Given the description of an element on the screen output the (x, y) to click on. 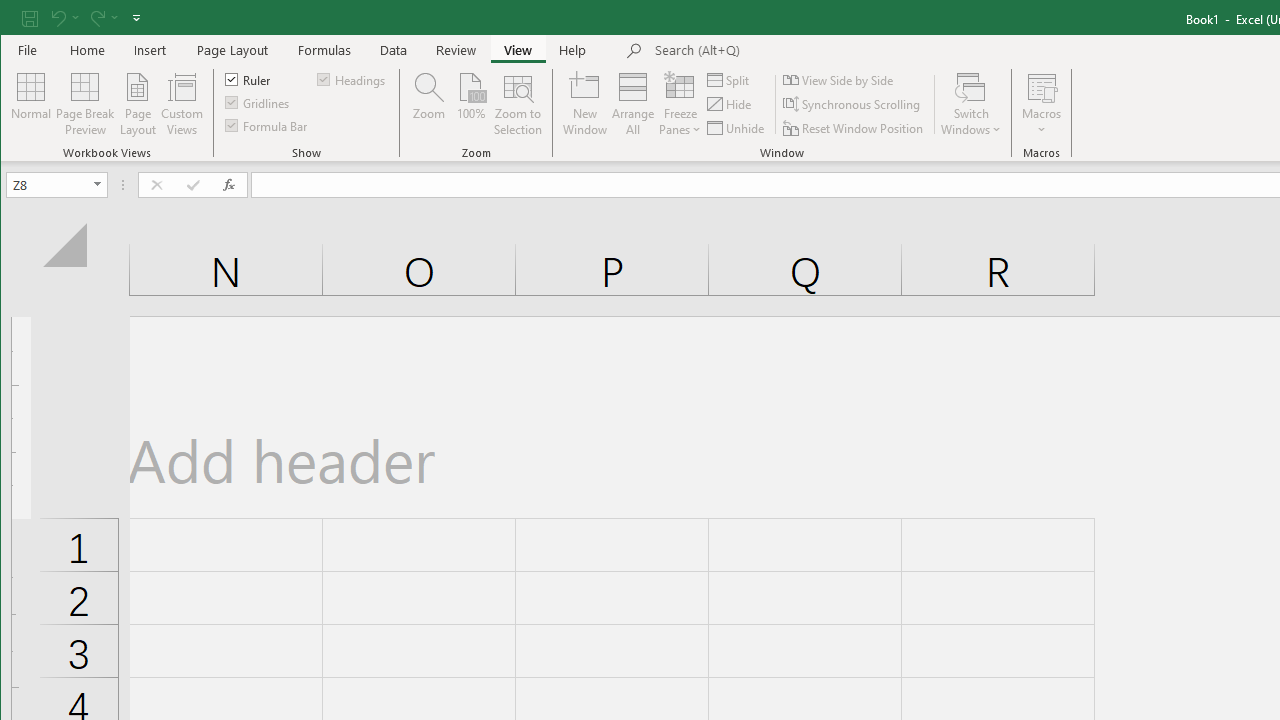
Review (456, 50)
View Macros (1041, 86)
